Given the description of an element on the screen output the (x, y) to click on. 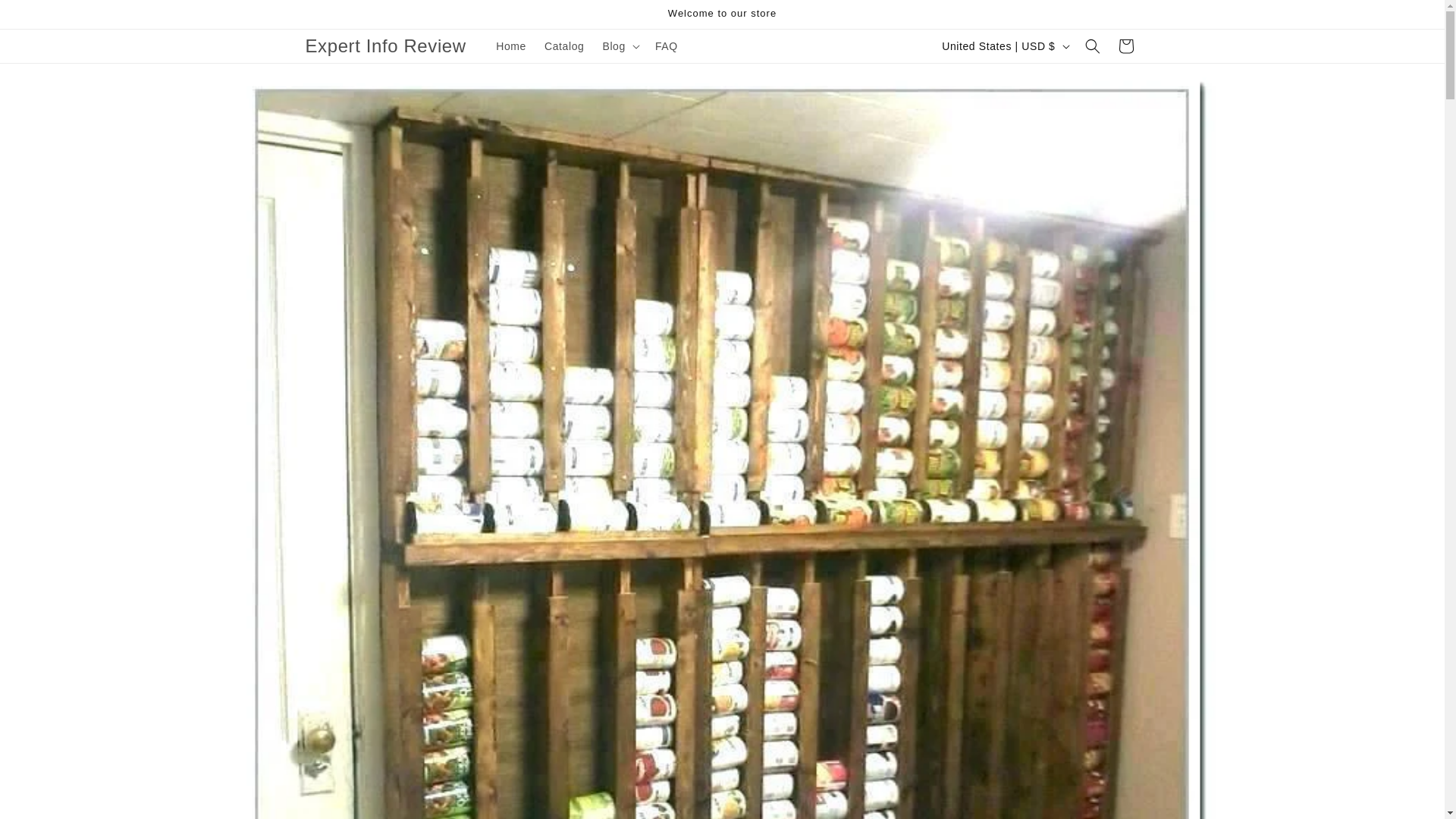
Expert Info Review (385, 46)
FAQ (666, 46)
Skip to content (45, 17)
Cart (1124, 46)
Catalog (563, 46)
Home (510, 46)
